Given the description of an element on the screen output the (x, y) to click on. 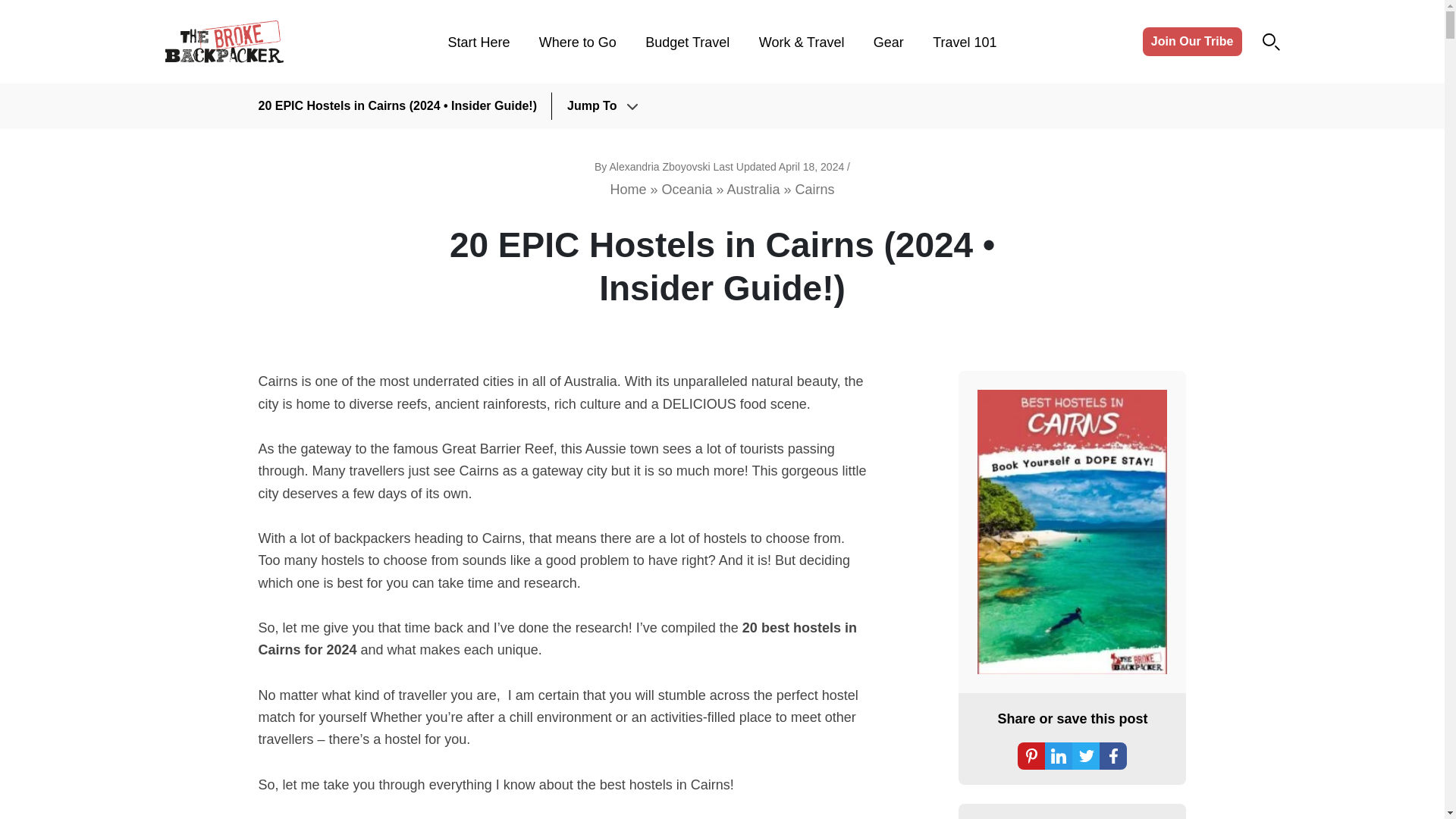
Start Here (477, 42)
Where to Go (576, 42)
